Given the description of an element on the screen output the (x, y) to click on. 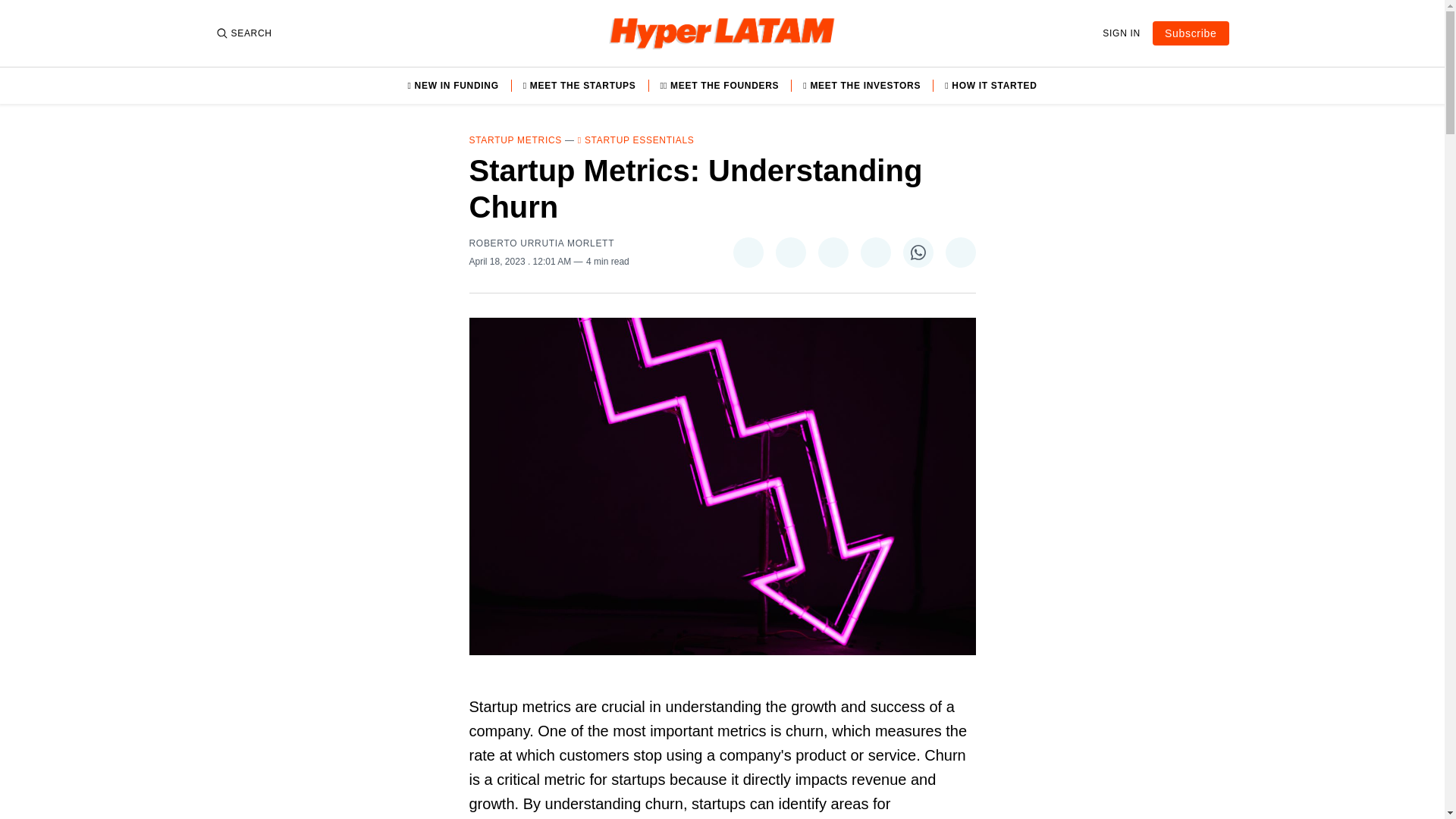
Share on WhatsApp (917, 252)
SEARCH (242, 33)
STARTUP METRICS (515, 140)
Subscribe (1190, 33)
Share on Facebook (789, 252)
Share via Email (959, 252)
Share on Twitter (747, 252)
Share on Pinterest (831, 252)
Share on LinkedIn (874, 252)
ROBERTO URRUTIA MORLETT (541, 243)
